Given the description of an element on the screen output the (x, y) to click on. 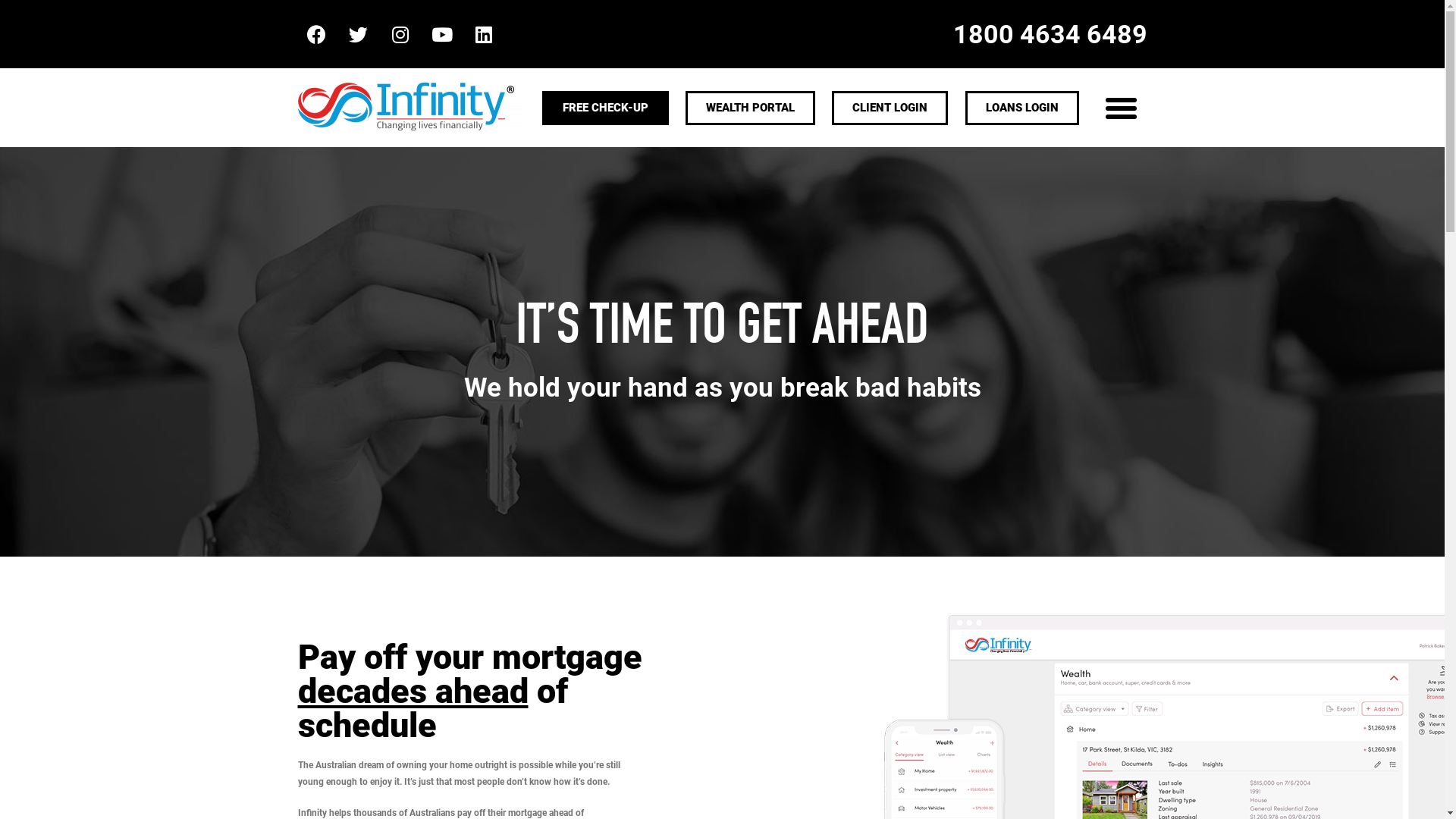
WEALTH PORTAL Element type: text (750, 108)
CLIENT LOGIN Element type: text (889, 108)
1800 4634 6489 Element type: text (1049, 33)
FREE CHECK-UP Element type: text (605, 108)
LOANS LOGIN Element type: text (1022, 108)
